Given the description of an element on the screen output the (x, y) to click on. 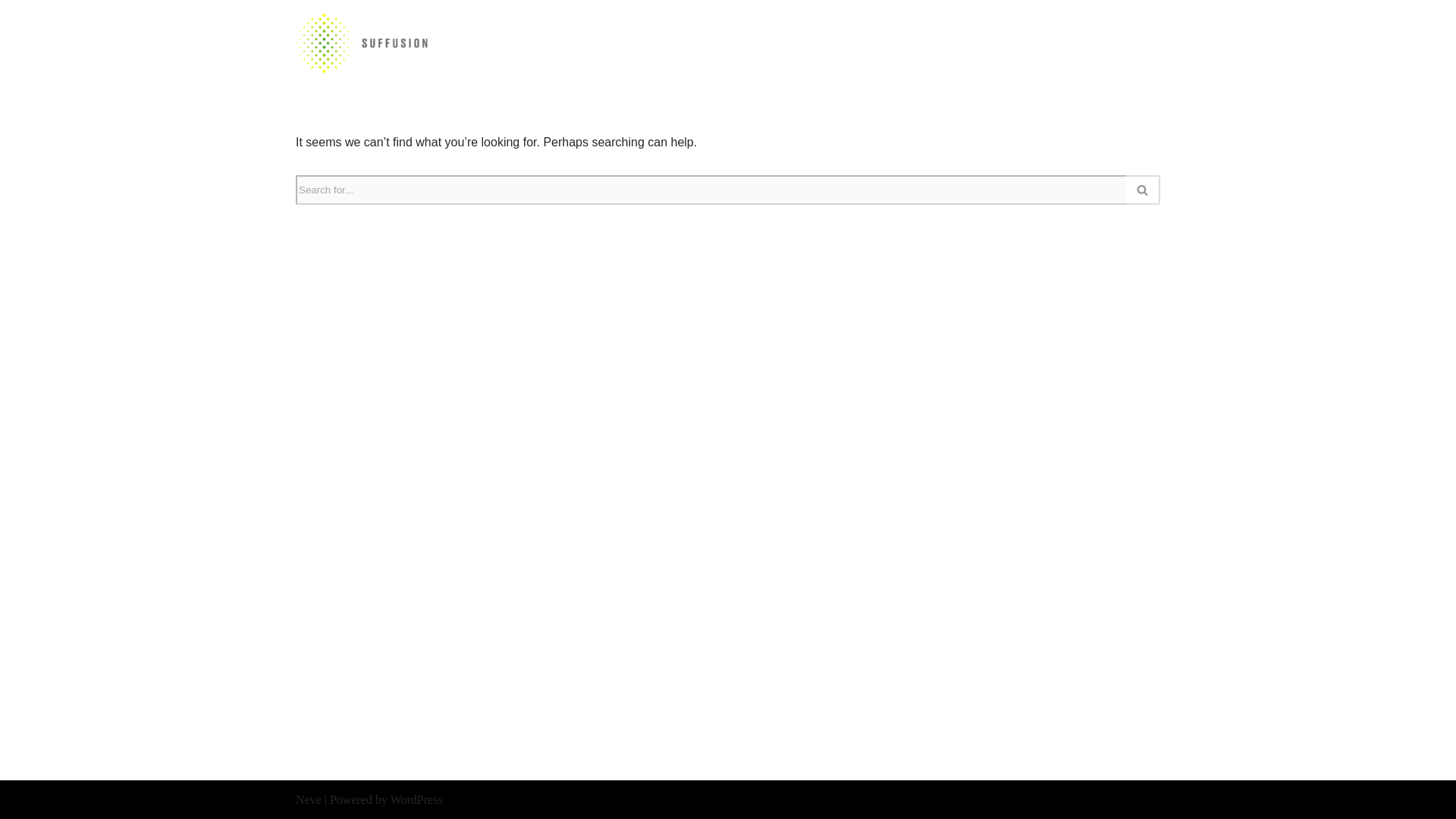
Skip to content (11, 31)
Neve (308, 799)
WordPress (416, 799)
